Given the description of an element on the screen output the (x, y) to click on. 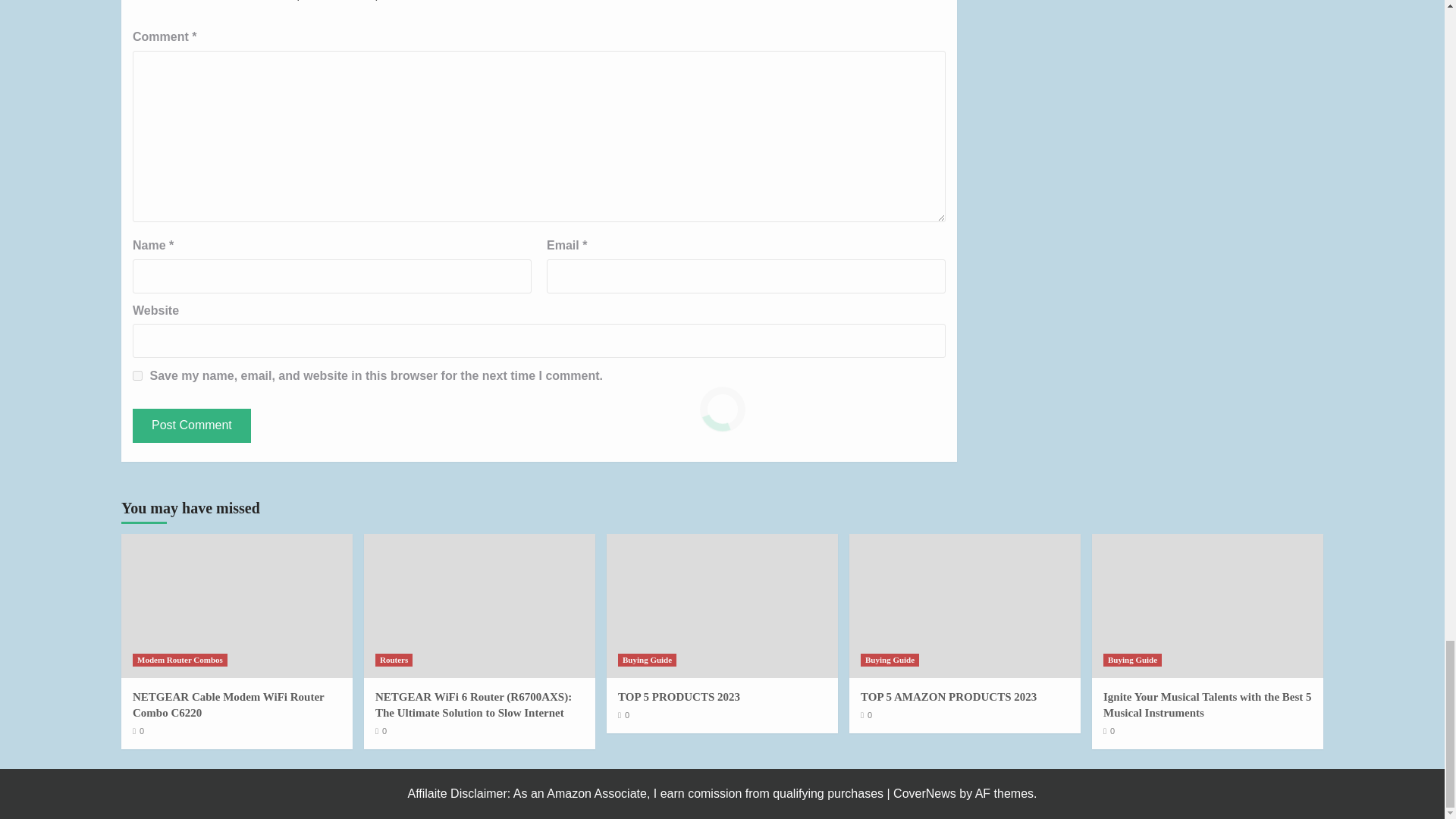
yes (137, 375)
Post Comment (191, 425)
